Given the description of an element on the screen output the (x, y) to click on. 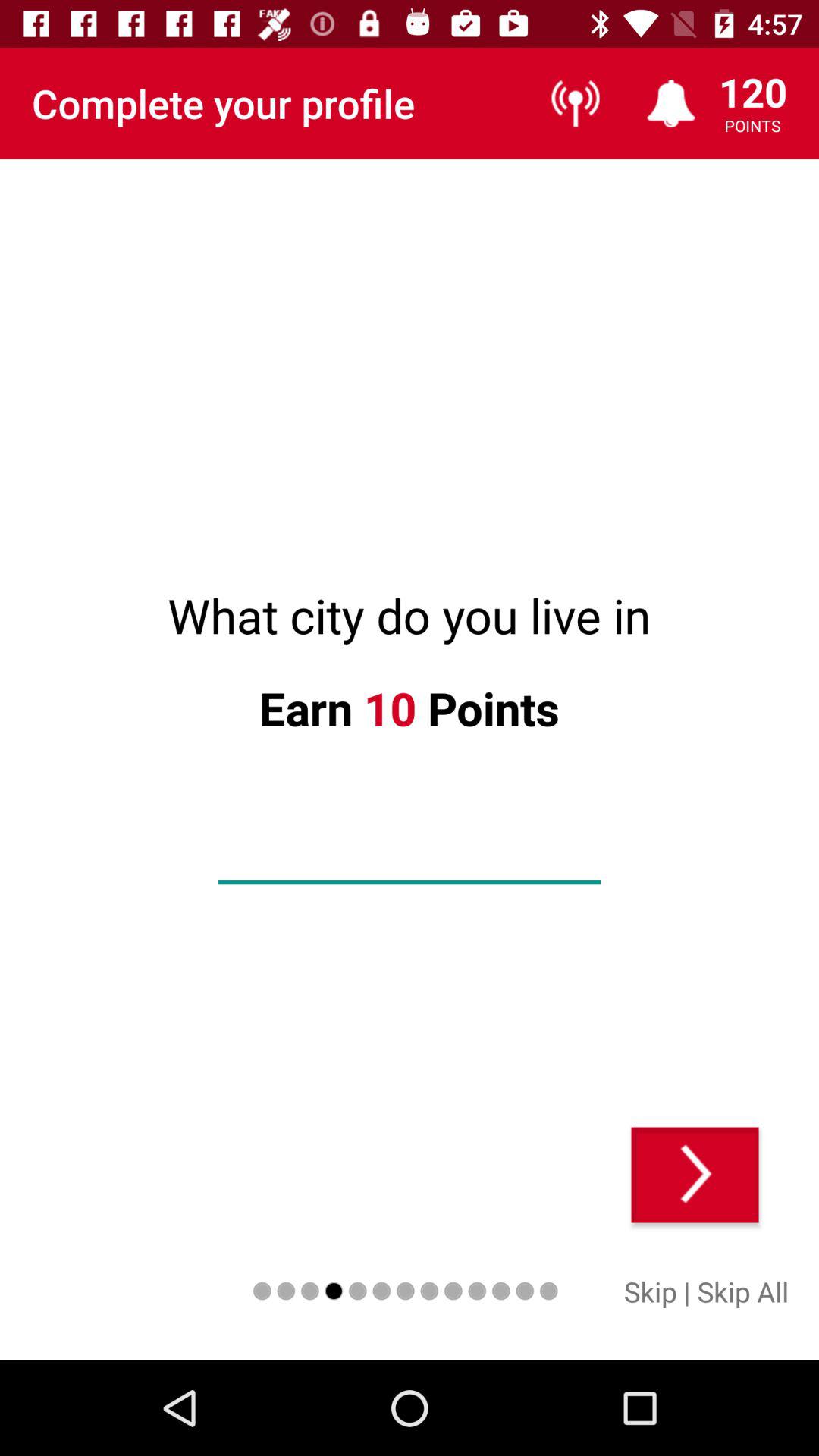
click item below the what city do (694, 1174)
